Given the description of an element on the screen output the (x, y) to click on. 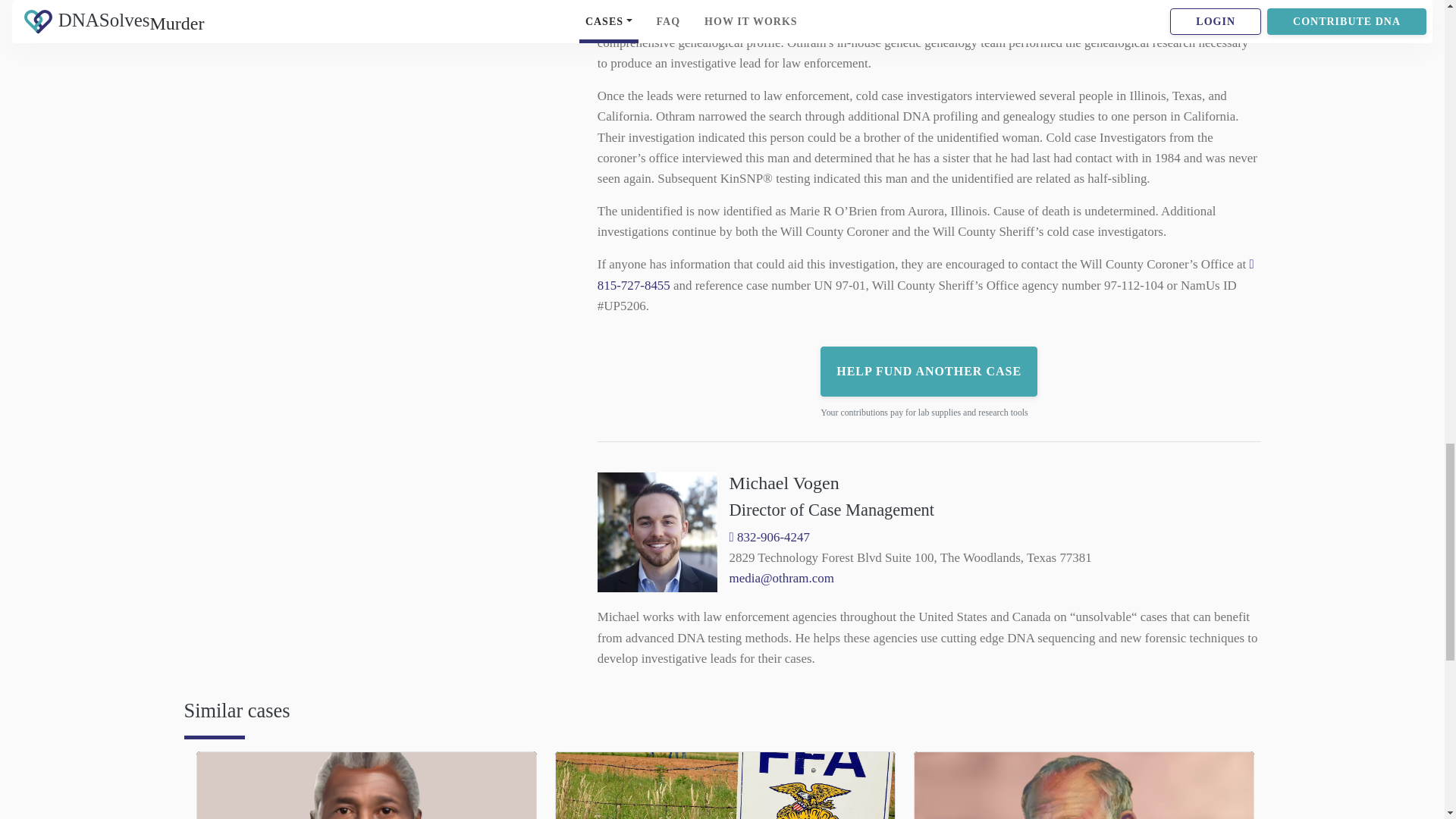
815-727-8455 (924, 274)
832-906-4247 (769, 536)
HELP FUND ANOTHER CASE (928, 371)
